Given the description of an element on the screen output the (x, y) to click on. 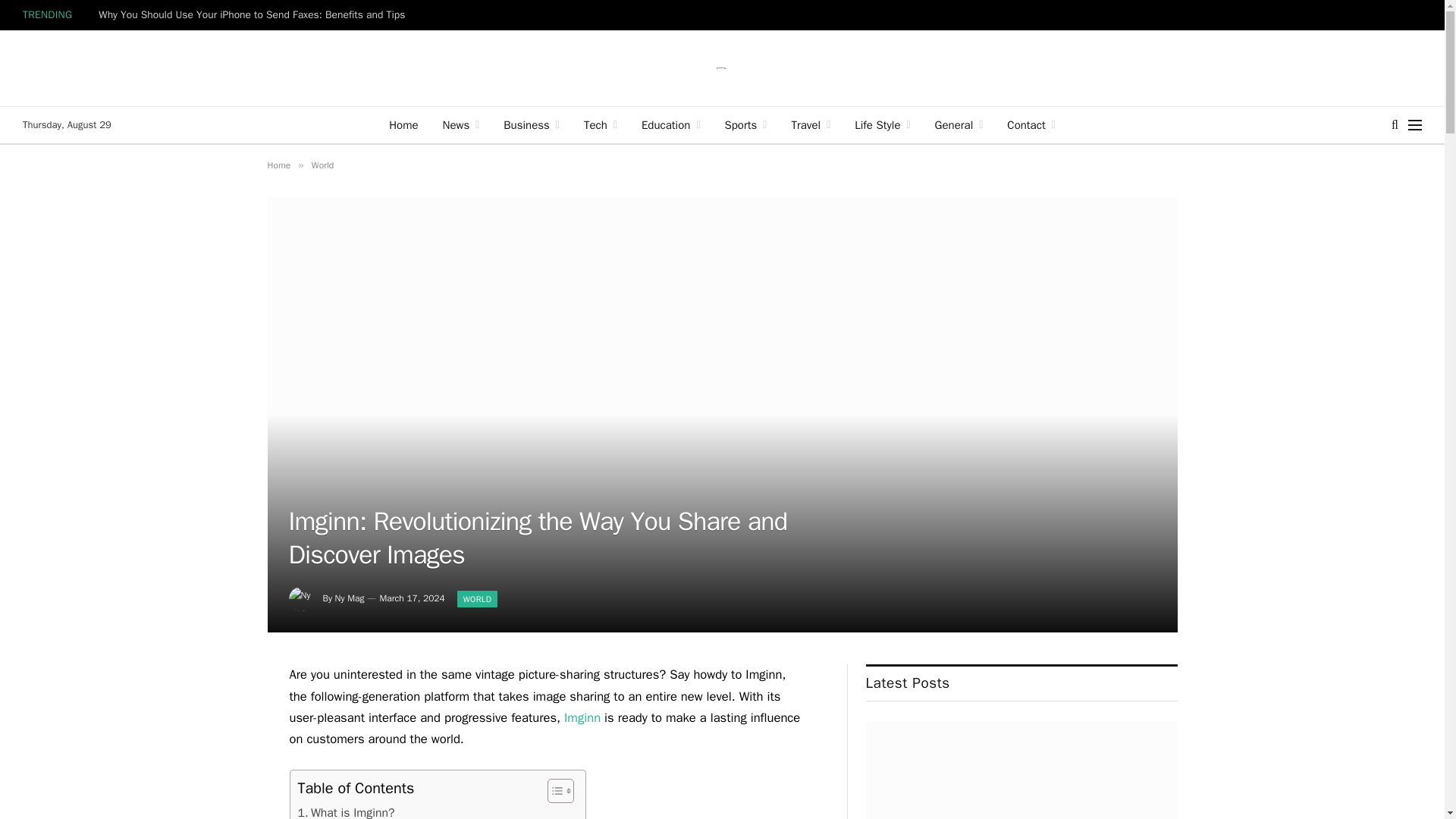
Home (403, 125)
News (461, 125)
Business (532, 125)
